Given the description of an element on the screen output the (x, y) to click on. 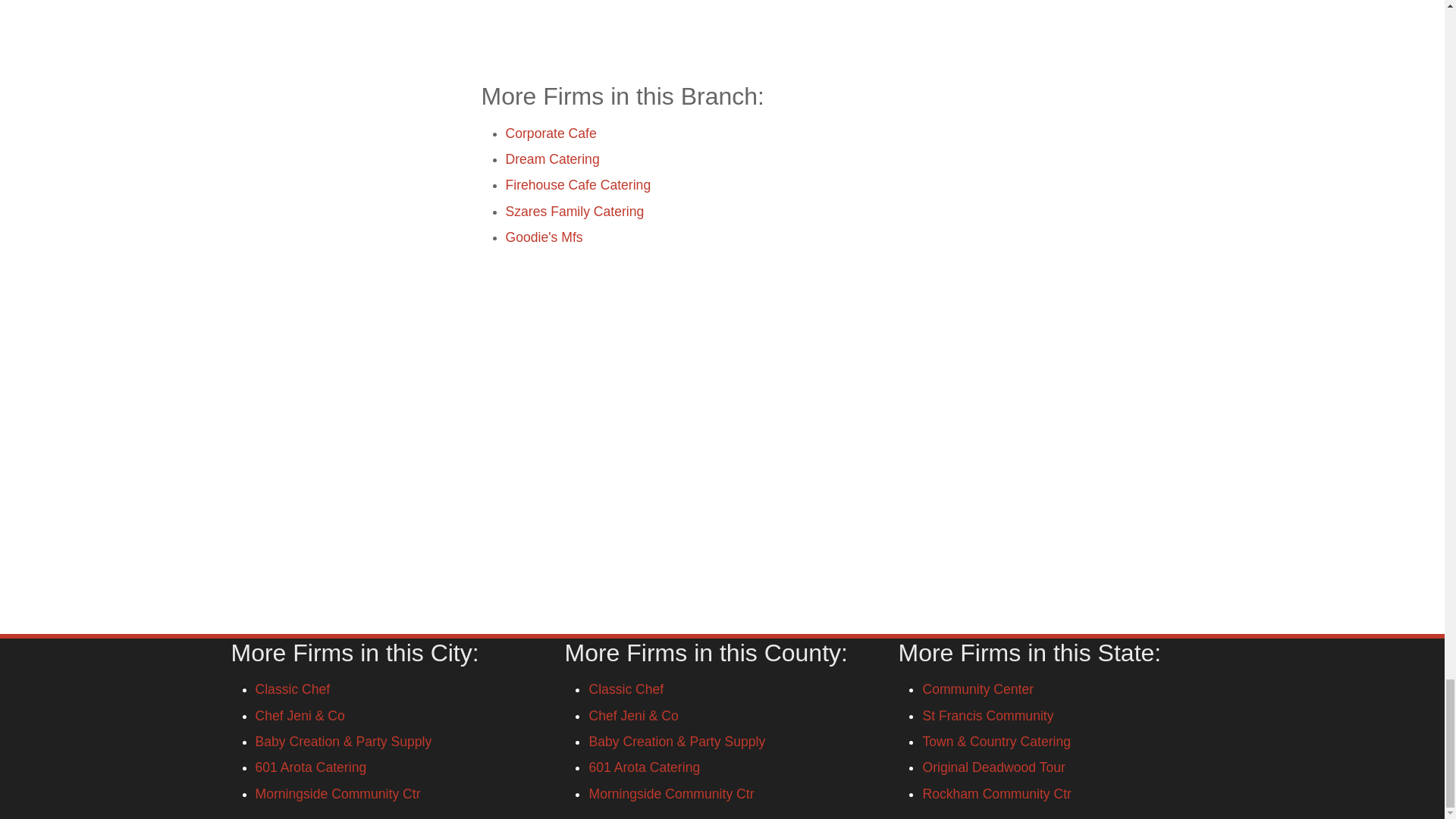
Firehouse Cafe Catering (577, 184)
Goodie's Mfs (543, 237)
Szares Family Catering (574, 211)
Advertisement (721, 30)
Corporate Cafe (550, 133)
Dream Catering (551, 159)
